Given the description of an element on the screen output the (x, y) to click on. 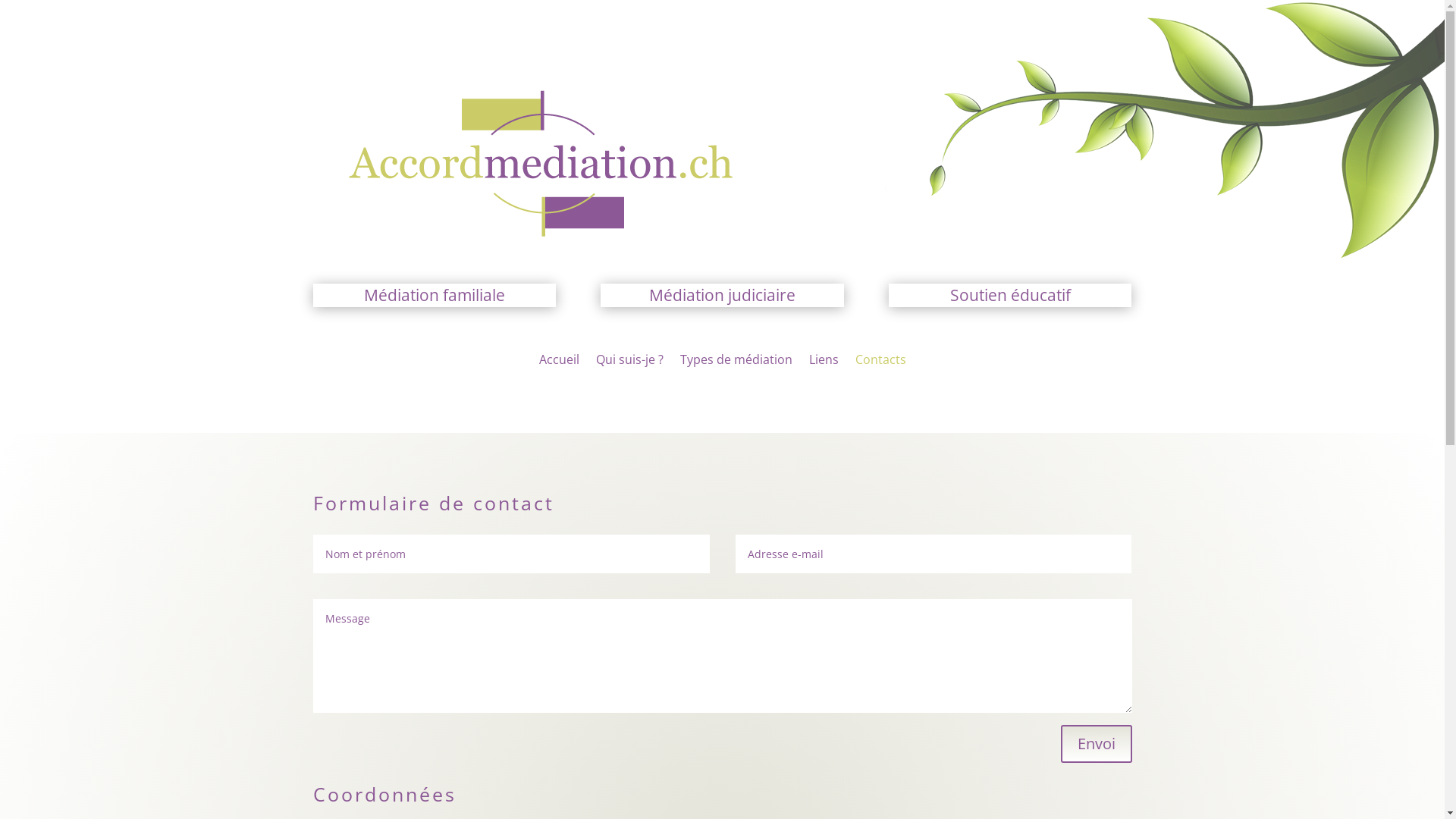
Envoi Element type: text (1095, 743)
Contacts Element type: text (880, 362)
Qui suis-je ? Element type: text (629, 362)
Accueil Element type: text (558, 362)
Accordmediation-web Element type: hover (537, 160)
Liens Element type: text (822, 362)
